Given the description of an element on the screen output the (x, y) to click on. 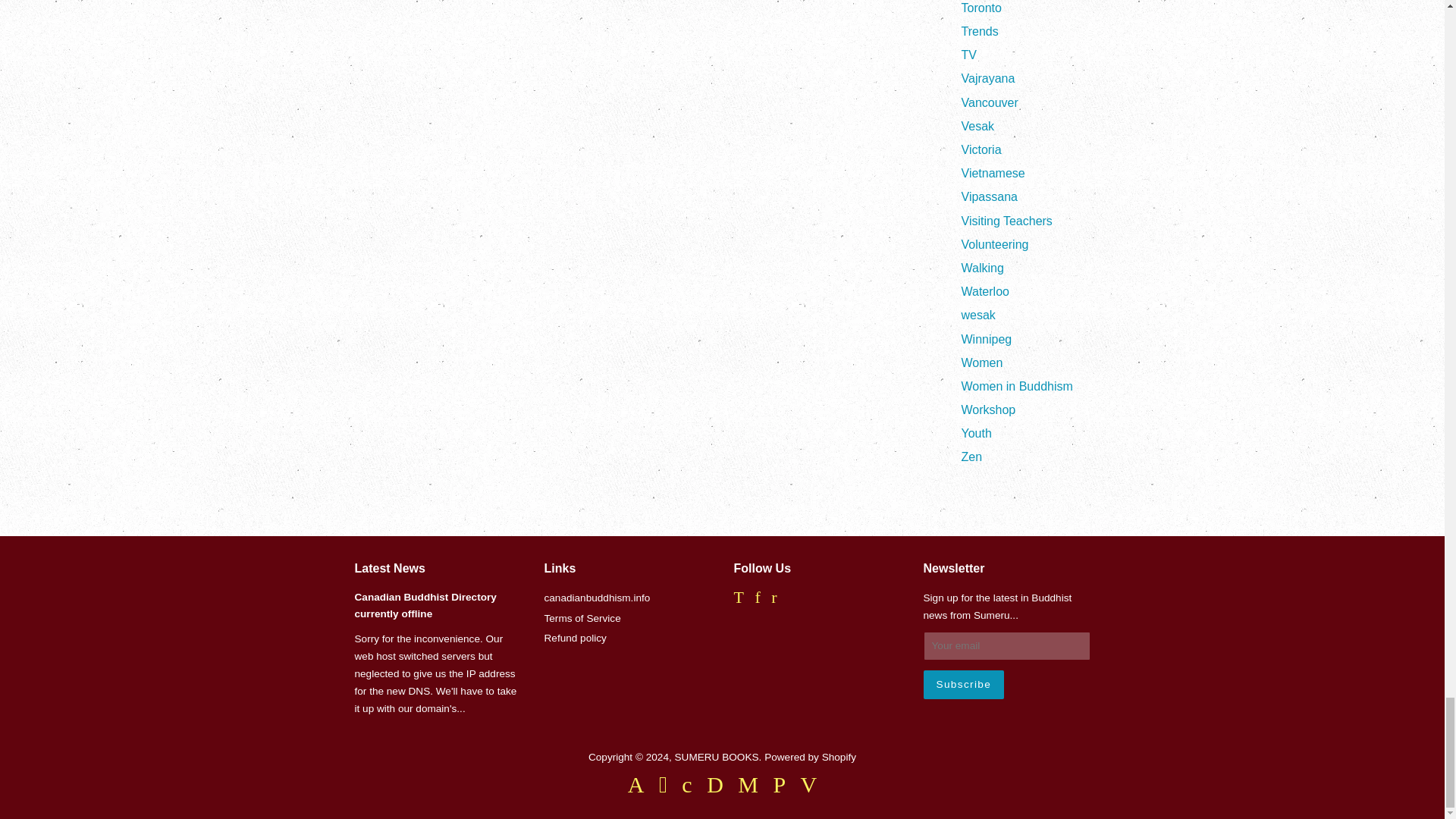
Subscribe (963, 684)
